Given the description of an element on the screen output the (x, y) to click on. 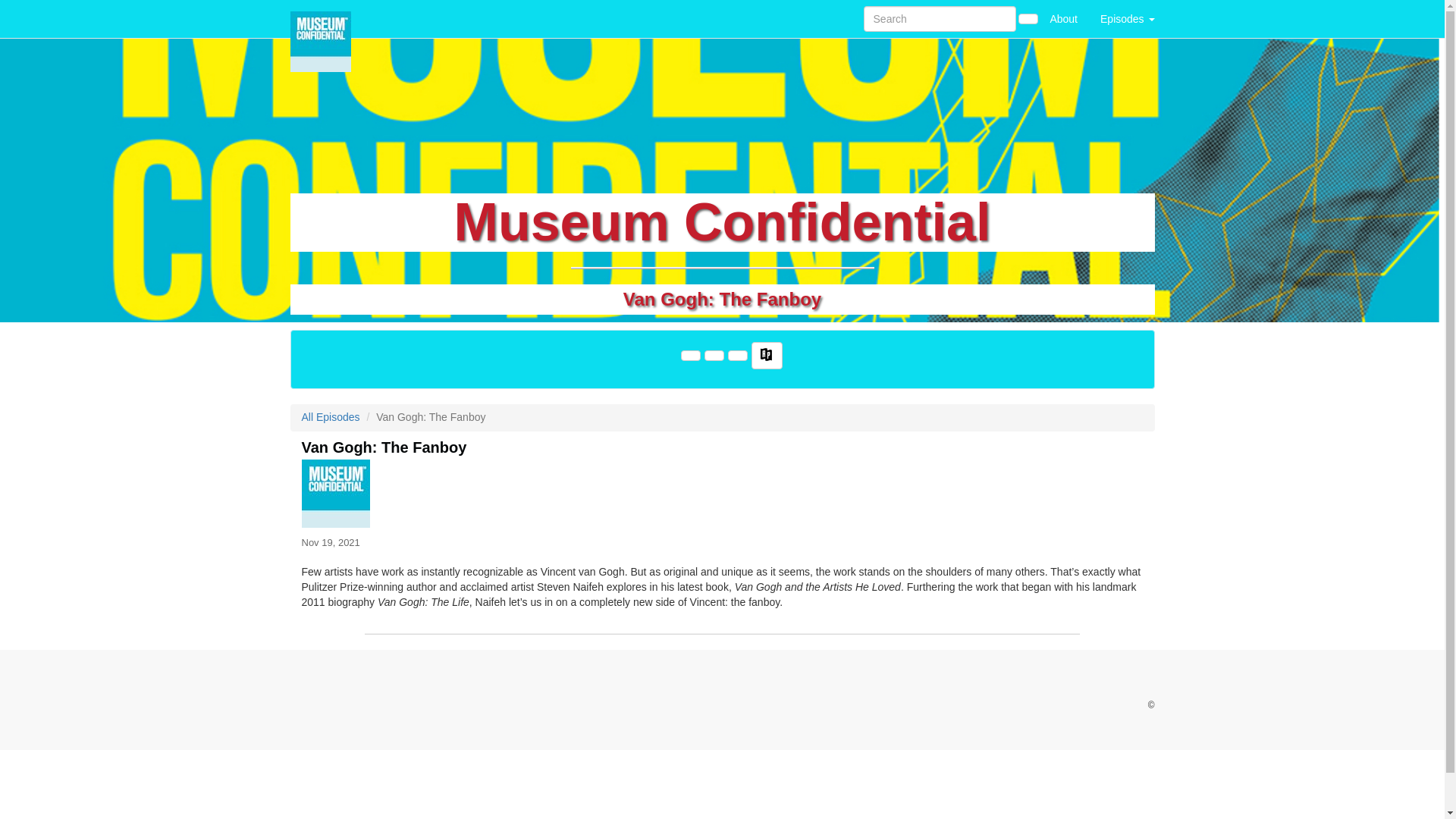
About (1063, 18)
Episodes (1127, 18)
Home Page (320, 18)
Van Gogh: The Fanboy (721, 493)
